Given the description of an element on the screen output the (x, y) to click on. 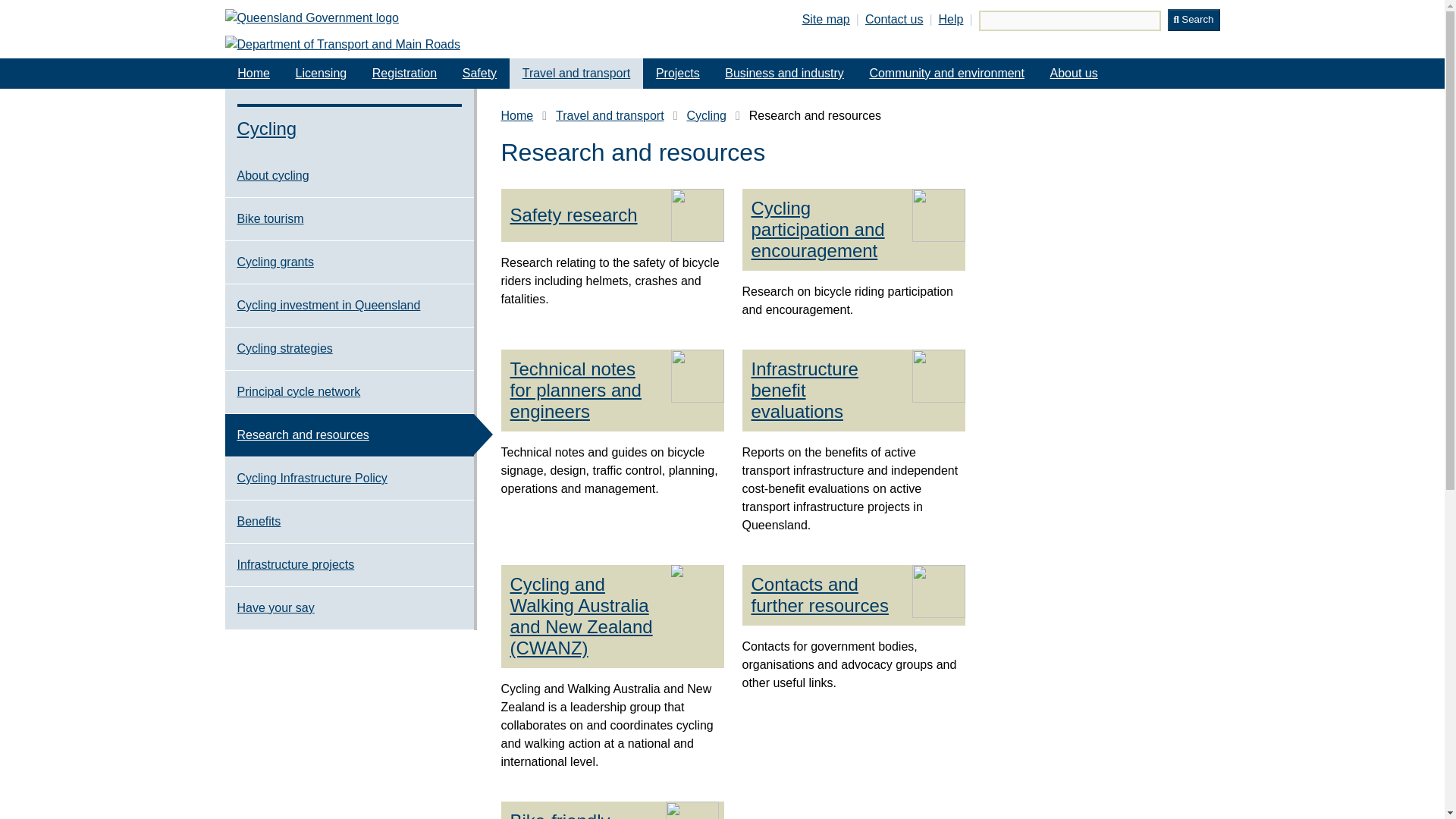
Cycling Infrastructure Policy (348, 478)
Travel and transport (576, 72)
Search Department of Transport and Main Roads... (1069, 20)
Have your say (348, 608)
Licensing (321, 72)
Cycling (705, 116)
Safety (479, 72)
Infrastructure projects (348, 564)
Technical notes for planners and engineers (584, 390)
Travel and transport (609, 116)
Bike tourism (348, 219)
Cycling investment in Queensland (348, 305)
Contact us (893, 19)
Benefits (348, 521)
Research and resources (348, 435)
